Given the description of an element on the screen output the (x, y) to click on. 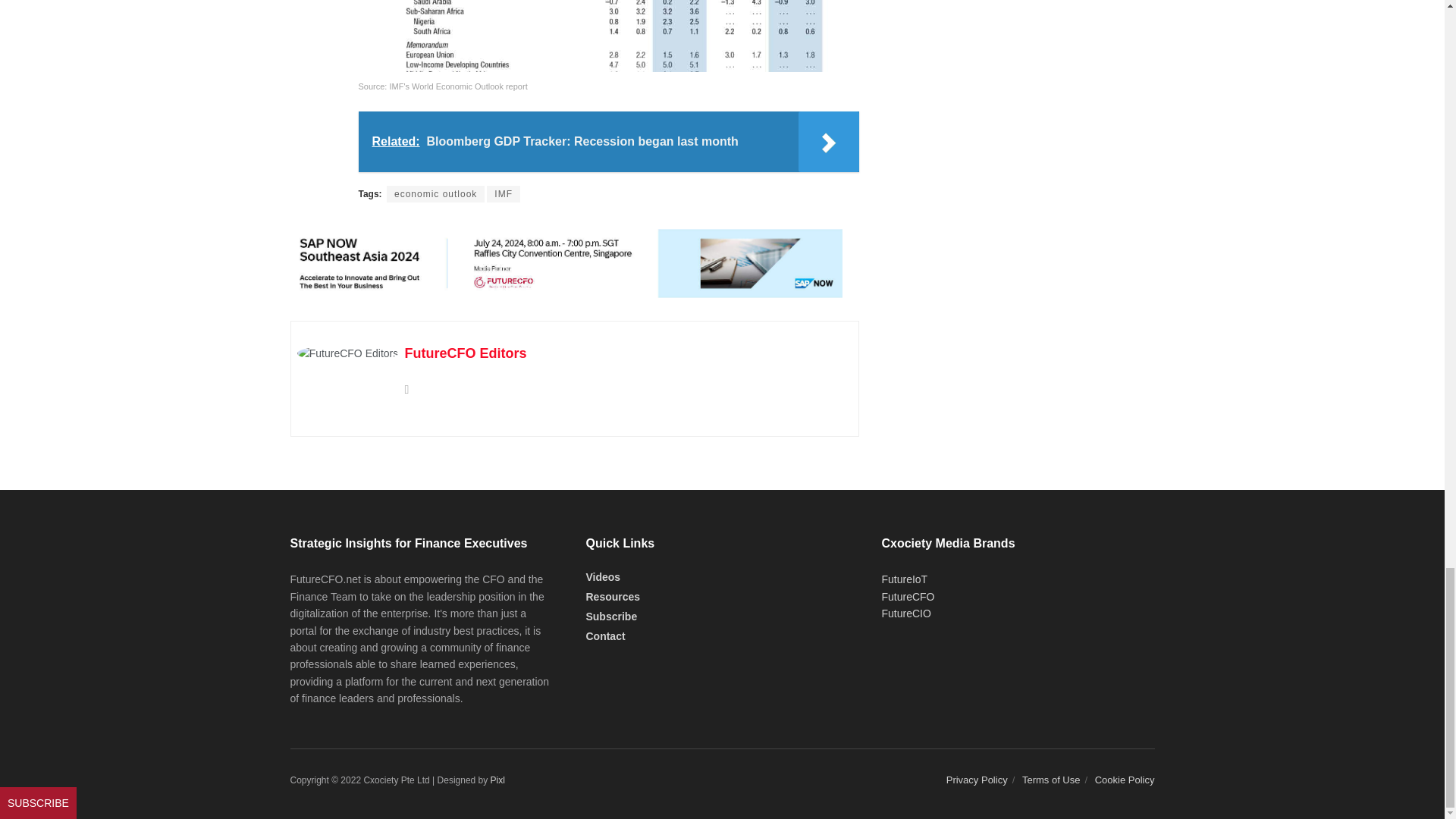
Pixl (497, 779)
